Given the description of an element on the screen output the (x, y) to click on. 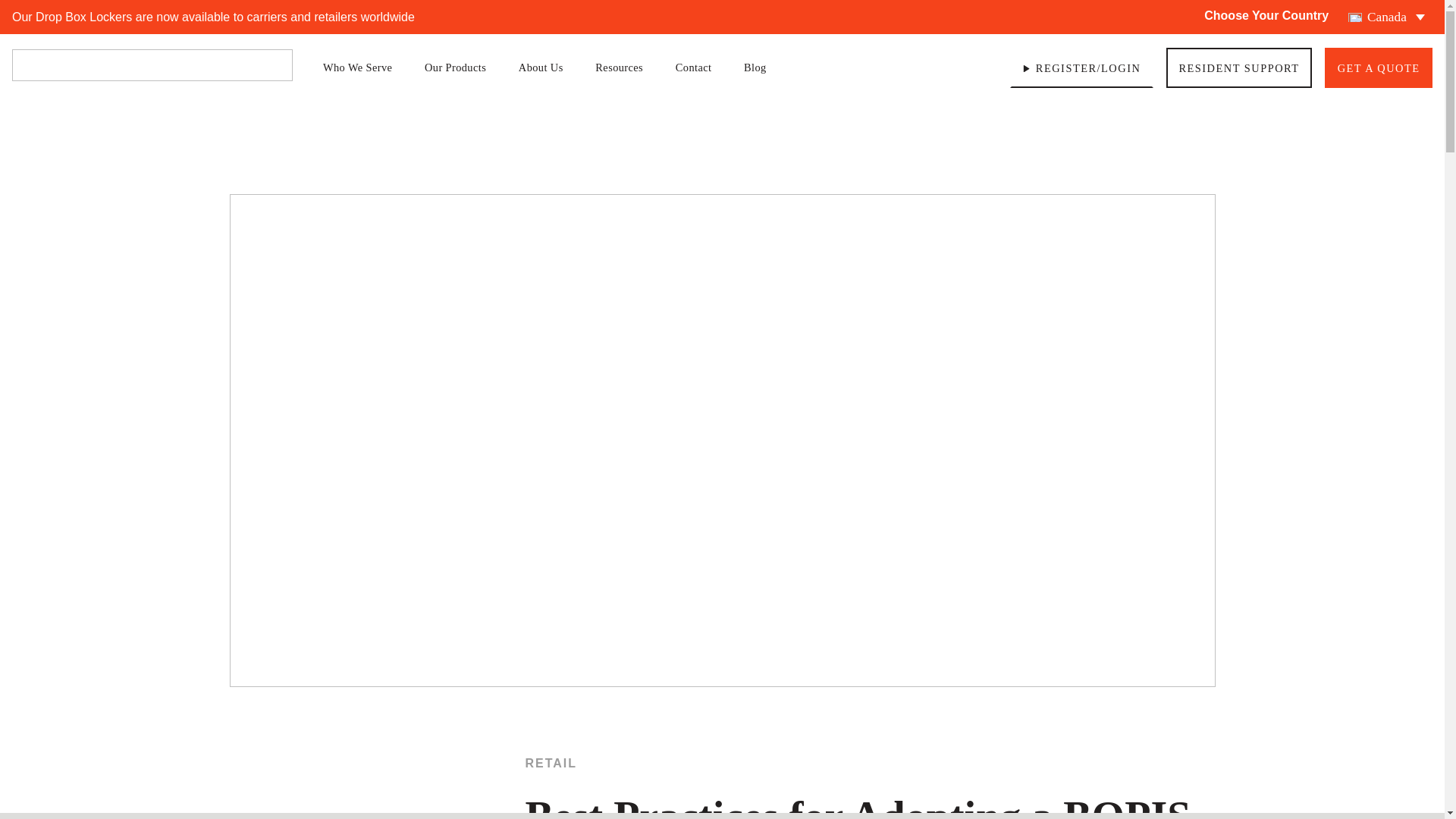
About Us (547, 67)
Who We Serve (364, 67)
Resources (625, 67)
Our Products (462, 67)
Our Products (462, 67)
Contact (700, 67)
About Us (547, 67)
Canada (1386, 16)
Who We Serve (364, 67)
